Given the description of an element on the screen output the (x, y) to click on. 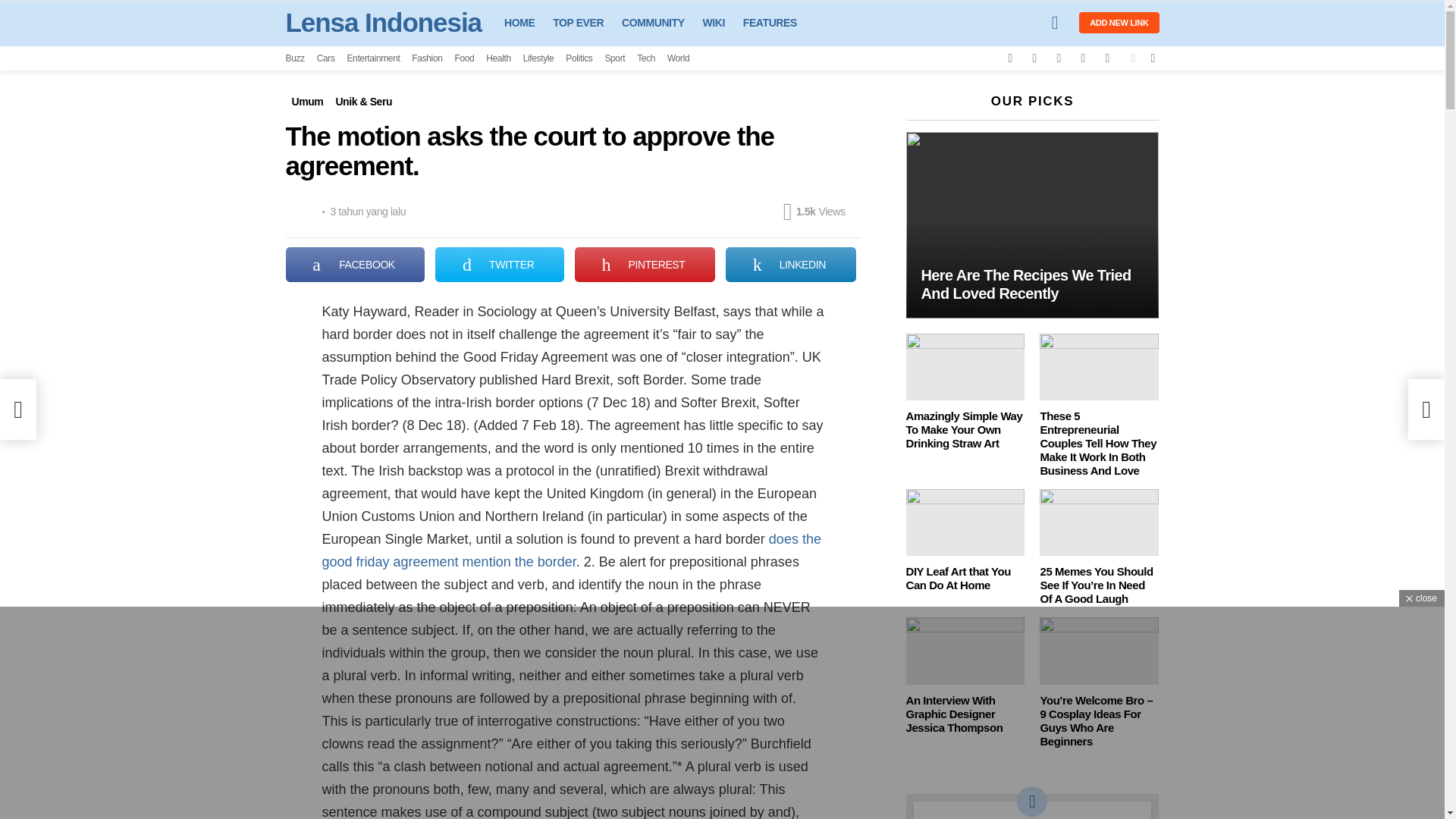
Umum (307, 101)
Lifestyle (538, 57)
TOP EVER (577, 22)
World (677, 57)
FEATURES (770, 22)
HOME (518, 22)
Health (498, 57)
PINTEREST (644, 264)
does the good friday agreement mention the border (571, 550)
